Given the description of an element on the screen output the (x, y) to click on. 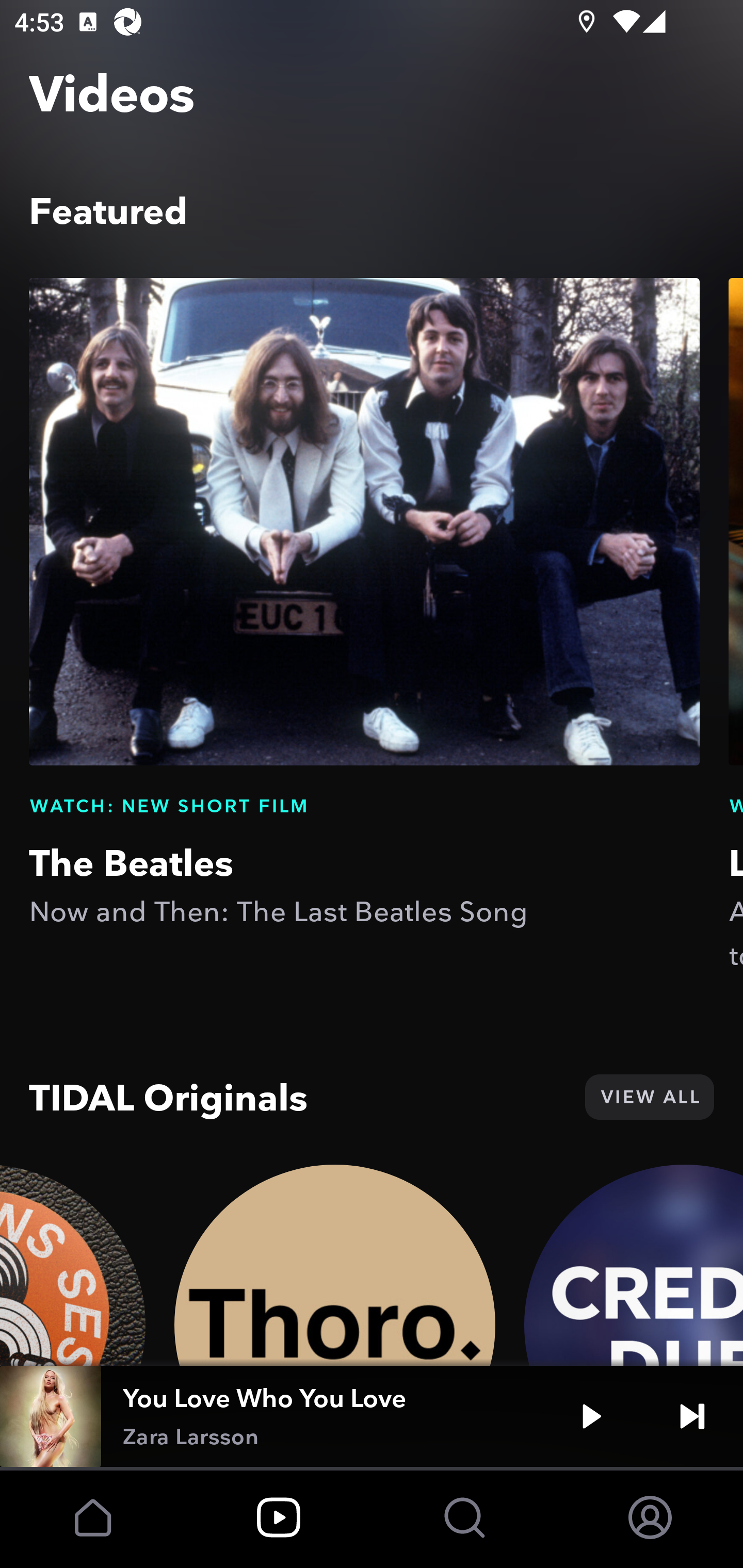
VIEW ALL (649, 1096)
You Love Who You Love Zara Larsson Play (371, 1416)
Play (590, 1416)
